Given the description of an element on the screen output the (x, y) to click on. 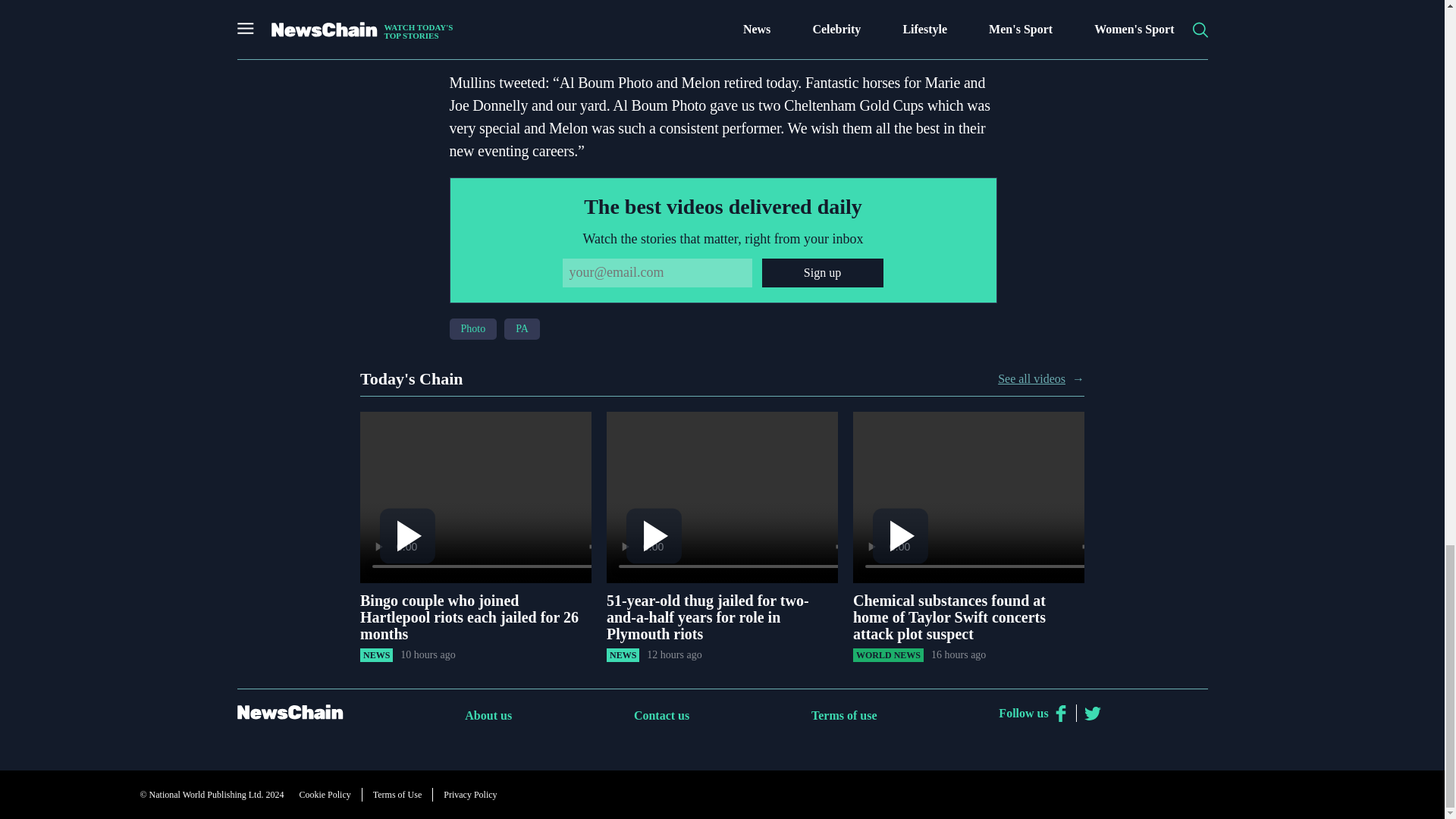
WORLD NEWS (888, 655)
See all videos (1031, 378)
NEWS (376, 655)
About us (488, 715)
NEWS (623, 655)
Terms of use (843, 715)
Photo (472, 328)
Cookie Policy (324, 794)
Contact us (660, 715)
